Given the description of an element on the screen output the (x, y) to click on. 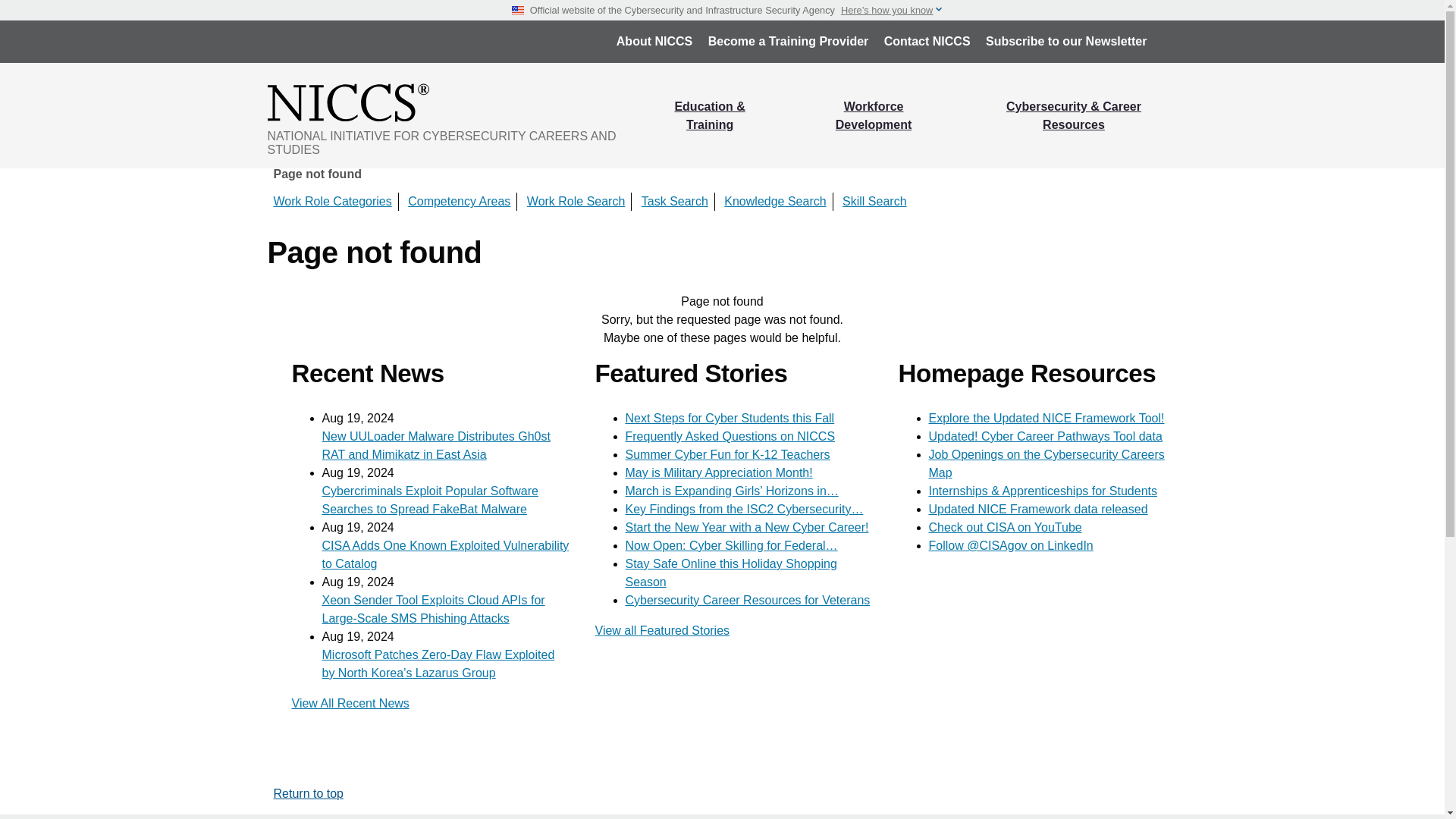
Job Openings on the Cybersecurity Careers Map (1045, 463)
Check out CISA on YouTube (1004, 526)
Frequently Asked Questions on NICCS (729, 436)
Contact NICCS (926, 41)
National Initiative for Cybersecurity Careers and Studies (454, 102)
View all Featured Stories (661, 630)
Become a Training Provider (788, 41)
Job Openings on the Cybersecurity Careers Map (1045, 463)
Workforce Development (873, 115)
